Given the description of an element on the screen output the (x, y) to click on. 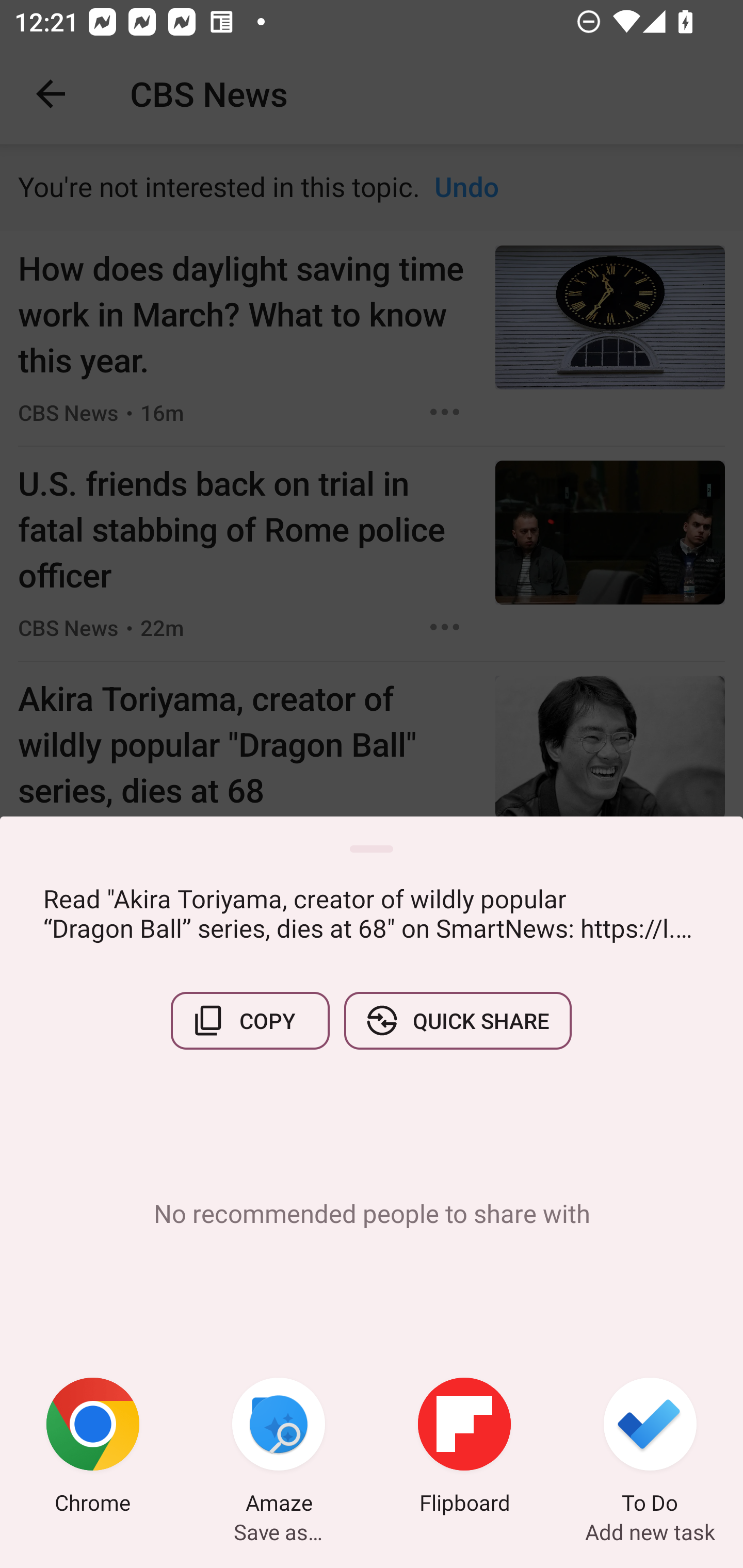
COPY (249, 1020)
QUICK SHARE (457, 1020)
Chrome (92, 1448)
Amaze Save as… (278, 1448)
Flipboard (464, 1448)
To Do Add new task (650, 1448)
